Given the description of an element on the screen output the (x, y) to click on. 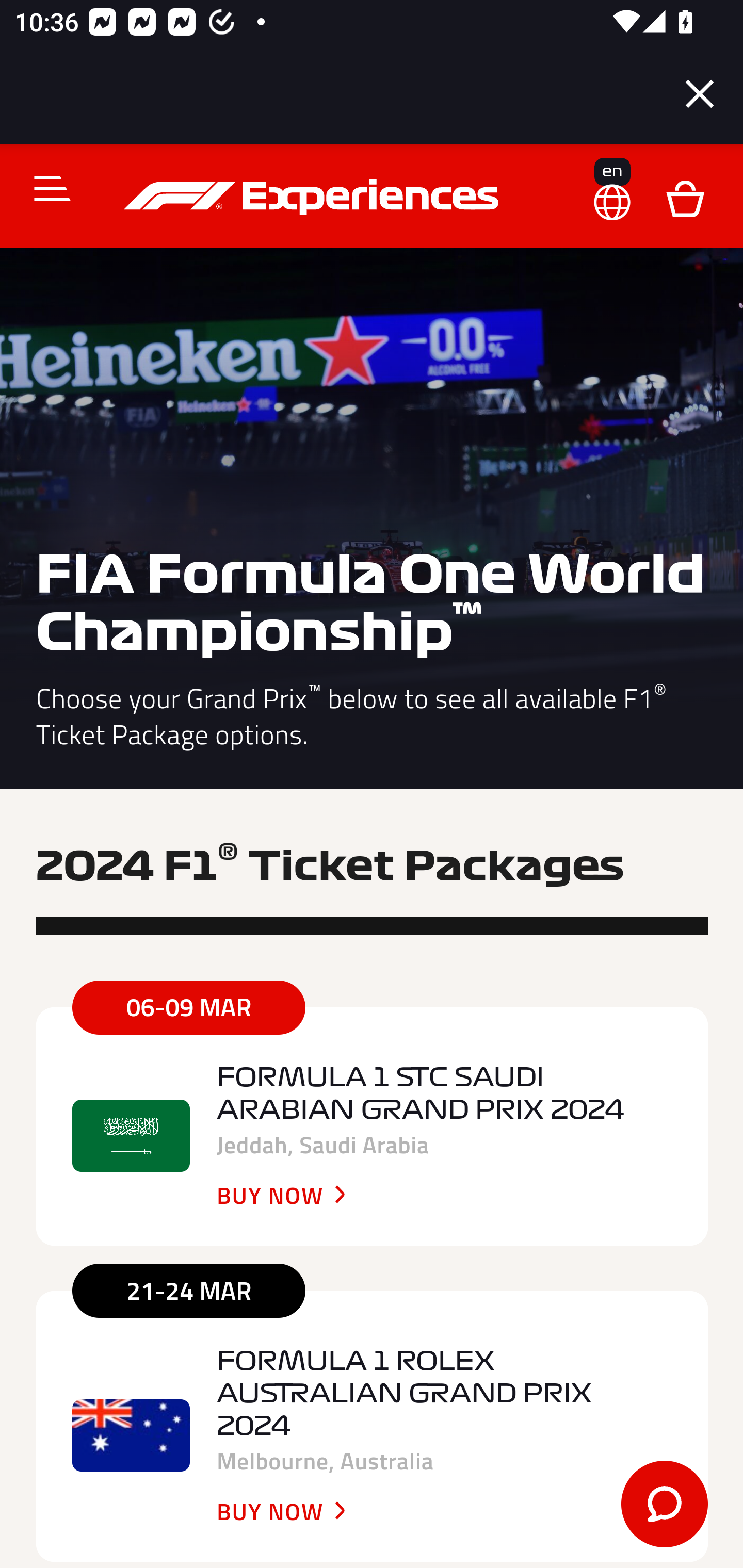
Close (699, 93)
Toggle navigation C (43, 188)
D (684, 197)
f1experiences (313, 197)
